Given the description of an element on the screen output the (x, y) to click on. 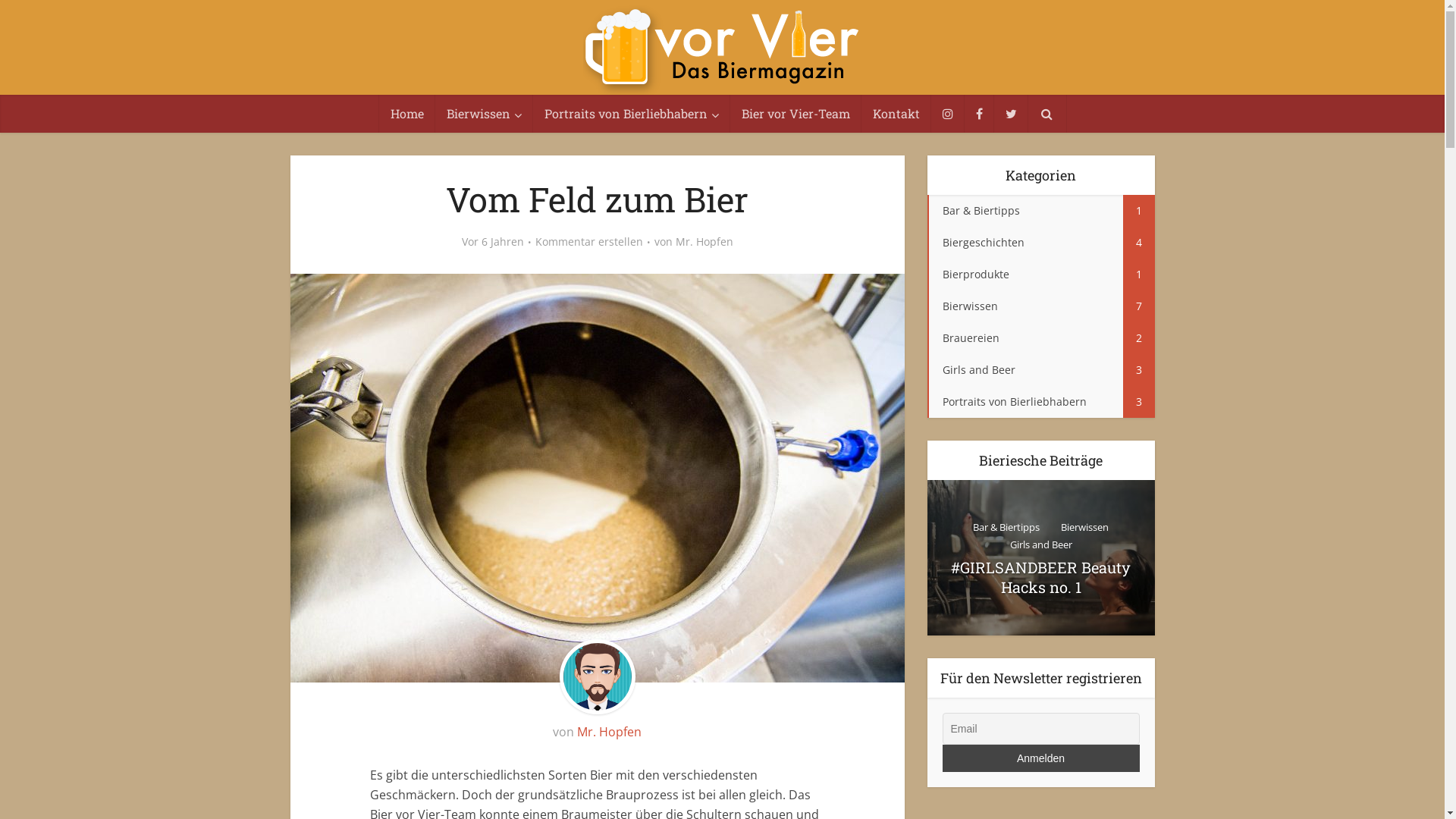
Bar & Biertipps
1 Element type: text (1040, 210)
Girls and Beer
3 Element type: text (1040, 369)
Home Element type: text (407, 113)
Kontakt Element type: text (896, 113)
Mr. Hopfen Element type: text (609, 731)
Mr. Hopfen Element type: text (703, 241)
#GIRLSANDBEER Beauty Hacks no. 1 Element type: hover (1040, 557)
Bierprodukte
1 Element type: text (1040, 274)
Kommentar erstellen Element type: text (589, 241)
Bier vor Vier-Team Element type: text (794, 113)
Portraits von Bierliebhabern Element type: text (630, 113)
Bierwissen Element type: text (484, 113)
Bierwissen Element type: text (1084, 527)
Biergeschichten
4 Element type: text (1040, 242)
Bier vor Vier Element type: hover (722, 49)
Brauereien
2 Element type: text (1040, 338)
Die Wirkung von Bier Element type: hover (812, 557)
Bierwissen
7 Element type: text (1040, 306)
Portraits von Bierliebhabern
3 Element type: text (1040, 401)
Anmelden Element type: text (1040, 757)
Bar & Biertipps Element type: text (1006, 527)
Girls and Beer Element type: text (1040, 544)
#GIRLSANDBEER Beauty Hacks no. 1 Element type: text (1040, 576)
